Given the description of an element on the screen output the (x, y) to click on. 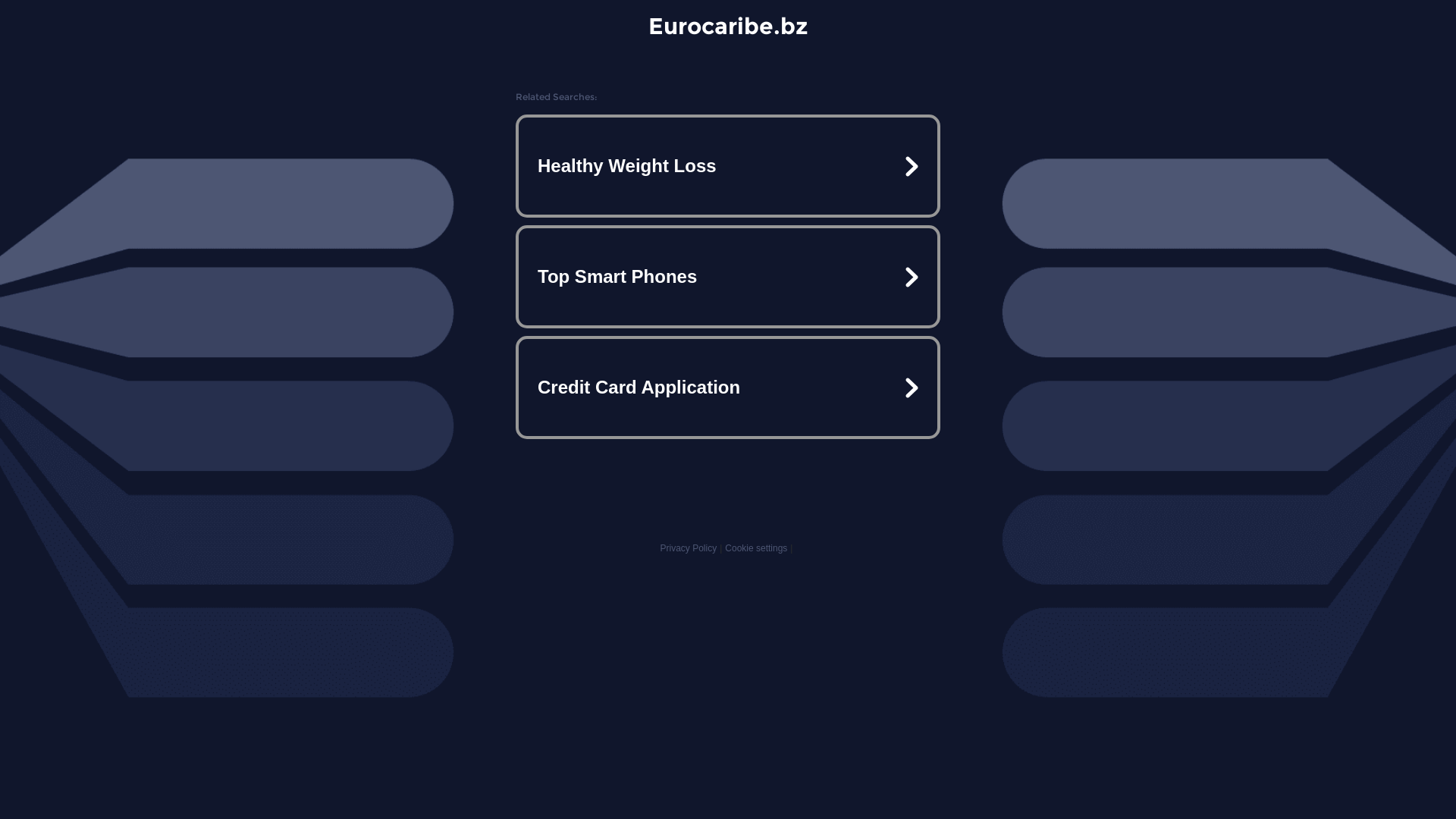
Top Smart Phones Element type: text (727, 276)
Eurocaribe.bz Element type: text (727, 26)
Cookie settings Element type: text (755, 547)
Credit Card Application Element type: text (727, 387)
Privacy Policy Element type: text (687, 547)
Healthy Weight Loss Element type: text (727, 165)
